Given the description of an element on the screen output the (x, y) to click on. 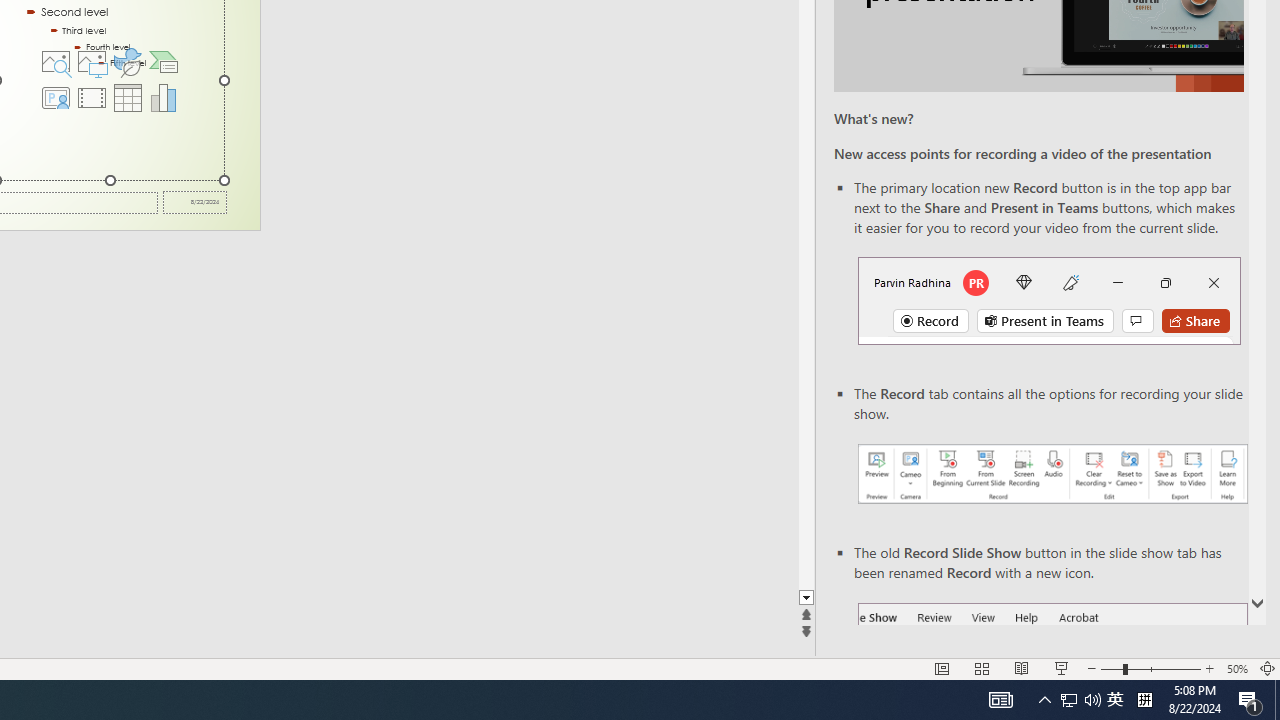
Insert a SmartArt Graphic (164, 61)
Record button in top bar (1049, 300)
Stock Images (55, 61)
Insert Chart (164, 97)
Record your presentations screenshot one (1052, 473)
Insert Cameo (55, 97)
